Given the description of an element on the screen output the (x, y) to click on. 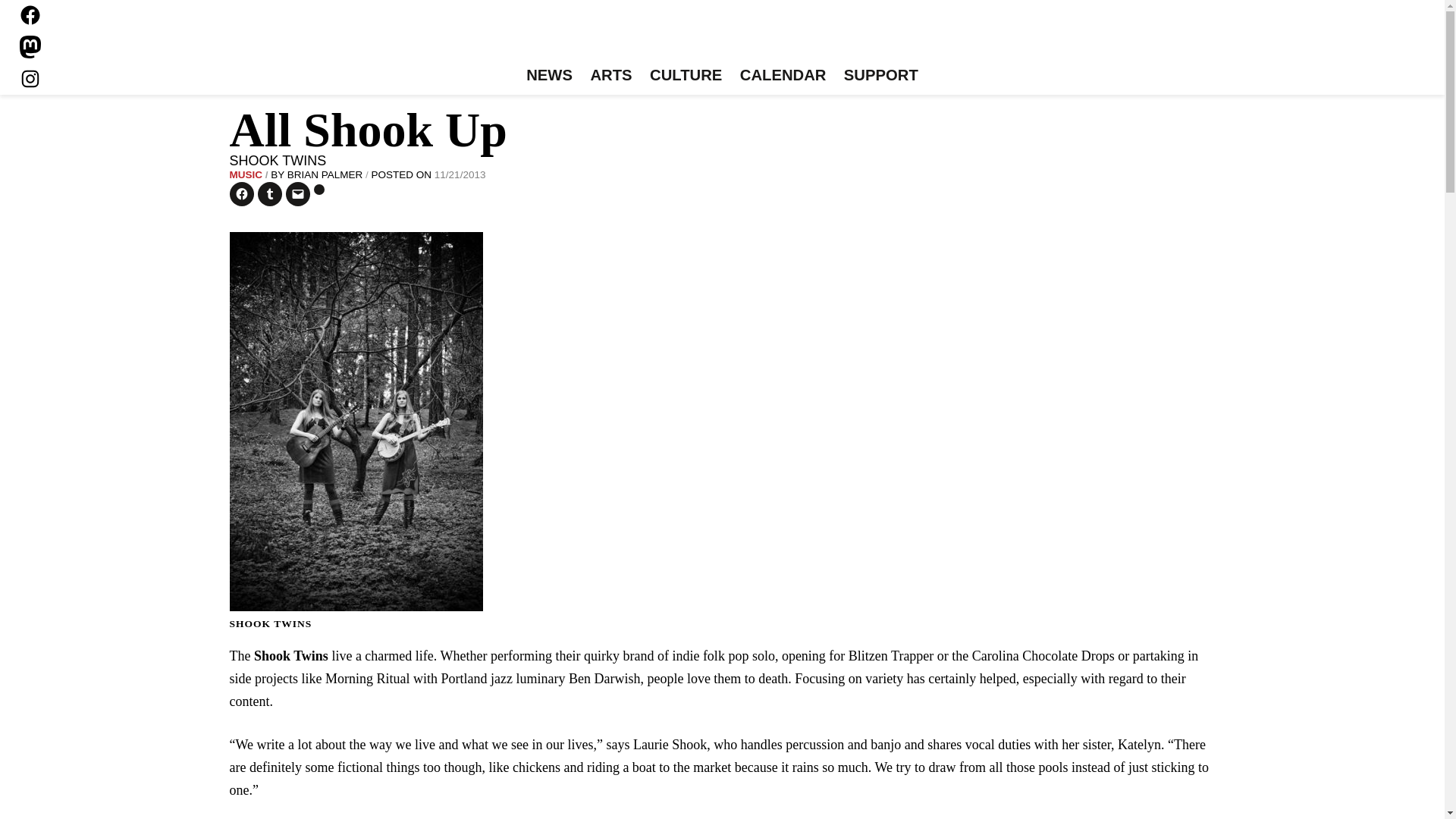
NEWS (548, 75)
Instagram (30, 78)
Click to print (319, 189)
Mastodon (30, 47)
CULTURE (685, 75)
ARTS (611, 75)
Click to email a link to a friend (296, 193)
CALENDAR (782, 75)
Eugene Weekly (721, 37)
Facebook (30, 15)
Click to share on Tumblr (269, 193)
SUPPORT (880, 75)
Click to share on Facebook (240, 193)
